Given the description of an element on the screen output the (x, y) to click on. 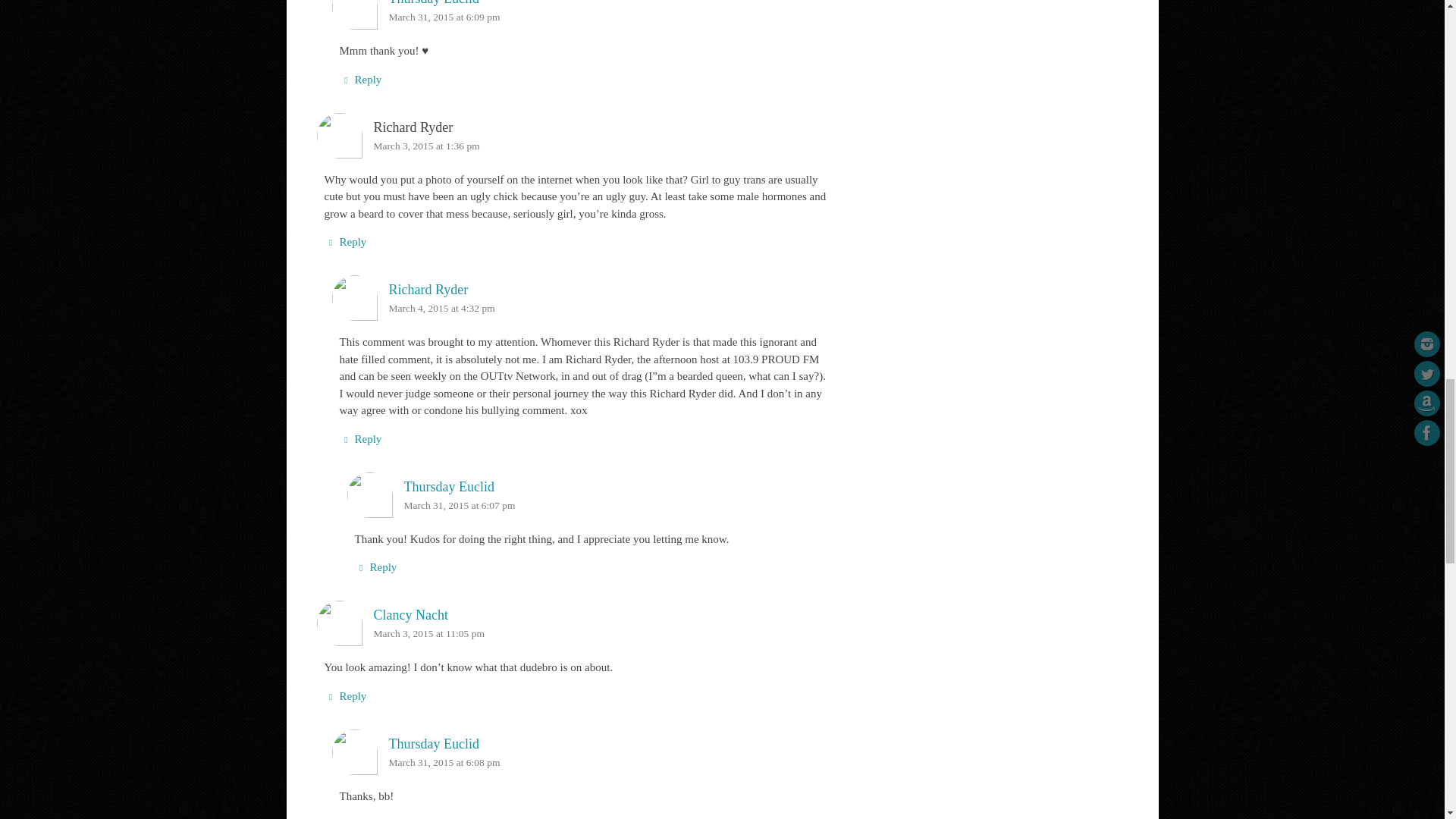
March 3, 2015 at 1:36 pm (425, 145)
Reply (360, 438)
Reply (345, 241)
Richard Ryder (427, 289)
March 4, 2015 at 4:32 pm (441, 307)
March 31, 2015 at 6:09 pm (443, 16)
Reply (360, 79)
Thursday Euclid (448, 486)
Reply (376, 567)
March 3, 2015 at 11:05 pm (427, 633)
Thursday Euclid (433, 2)
Clancy Nacht (409, 614)
March 31, 2015 at 6:07 pm (459, 505)
